Given the description of an element on the screen output the (x, y) to click on. 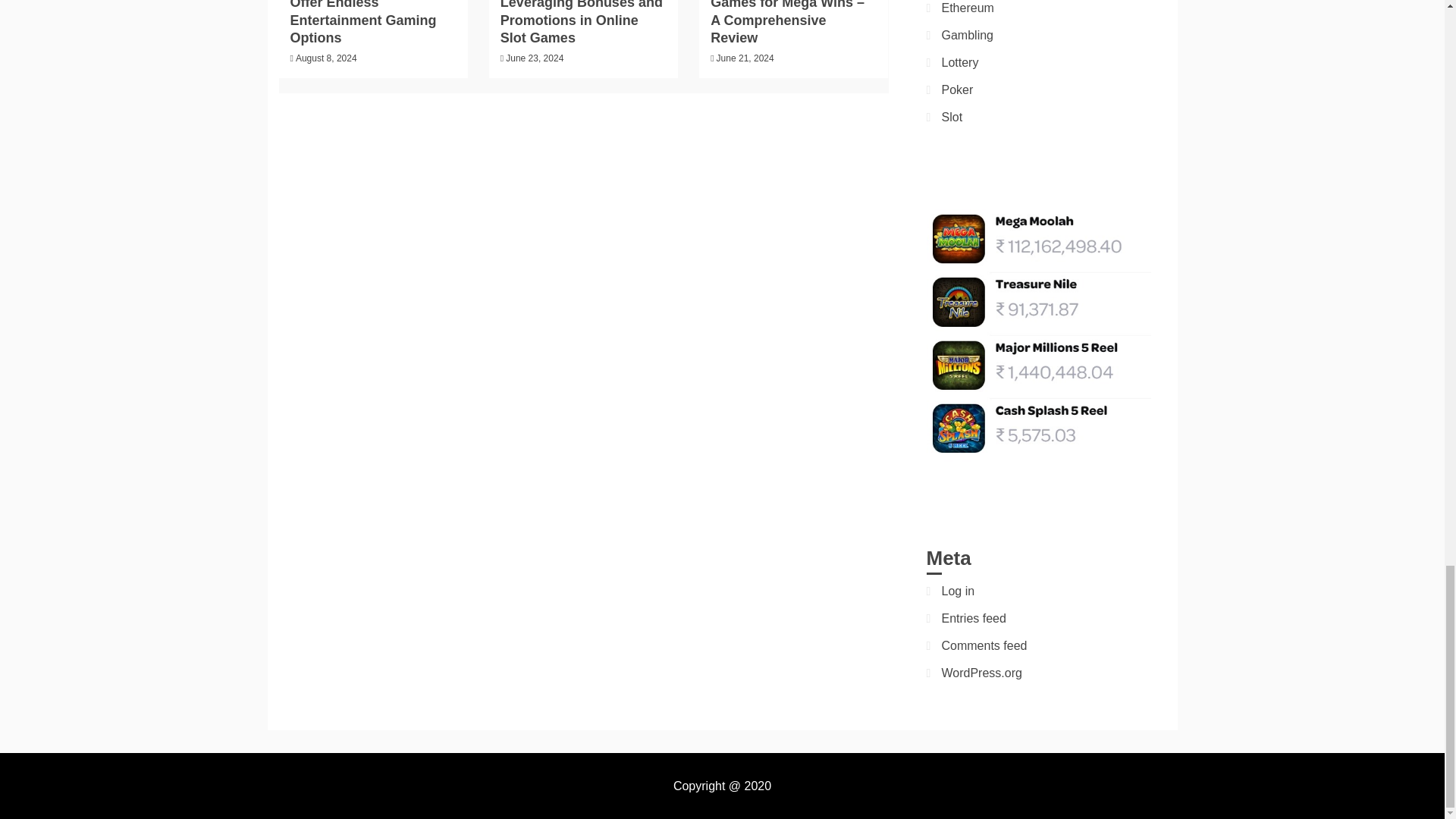
August 8, 2024 (325, 58)
June 23, 2024 (534, 58)
June 21, 2024 (745, 58)
